Given the description of an element on the screen output the (x, y) to click on. 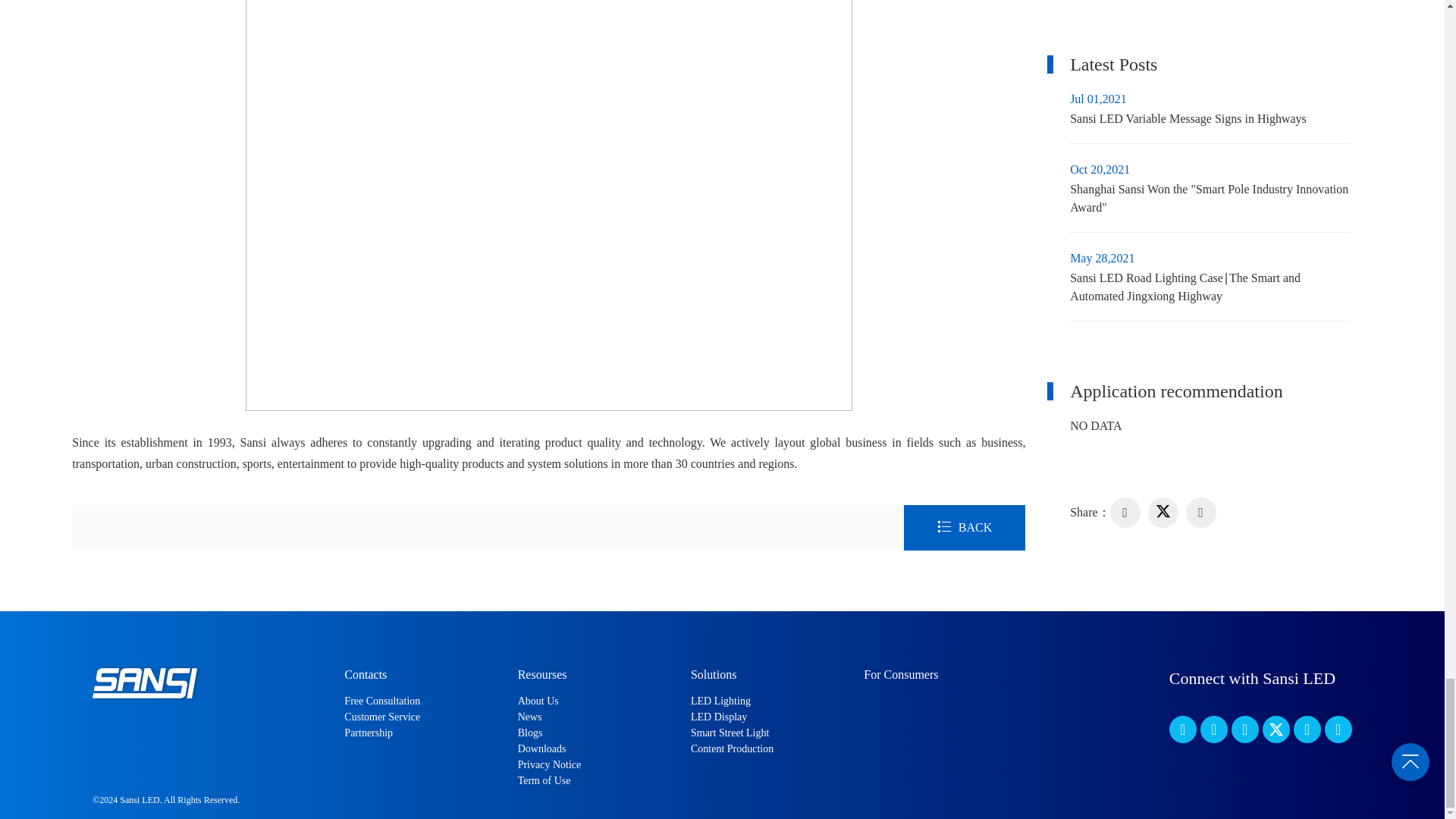
BACK (964, 526)
